Given the description of an element on the screen output the (x, y) to click on. 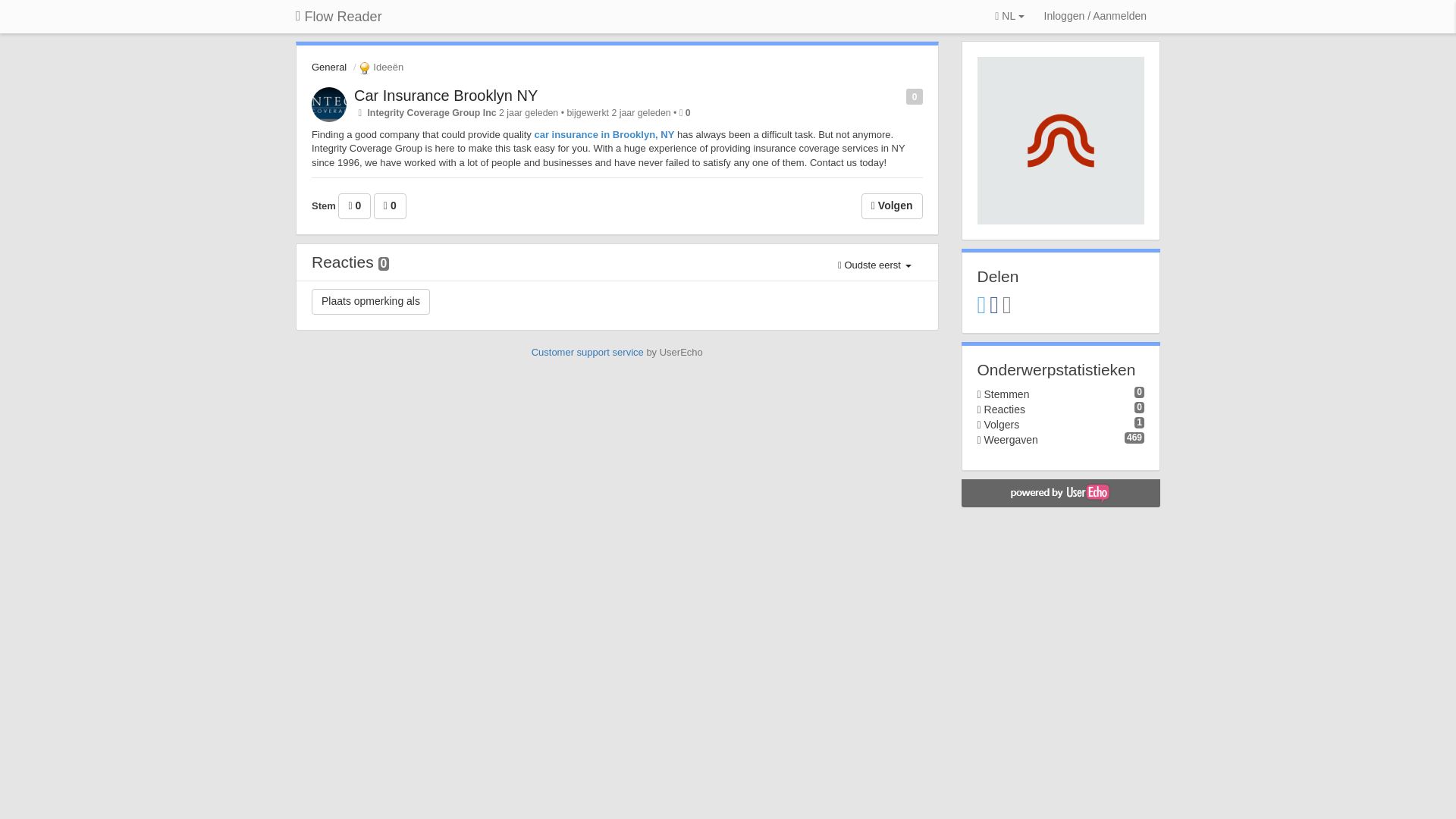
General (328, 66)
Car Insurance Brooklyn NY (445, 95)
NL (1008, 16)
Flow Reader (338, 16)
Plaats opmerking als (370, 301)
0 (354, 206)
0 (390, 206)
car insurance in Brooklyn, NY (604, 134)
0 (687, 112)
Integrity Coverage Group Inc (431, 112)
